Given the description of an element on the screen output the (x, y) to click on. 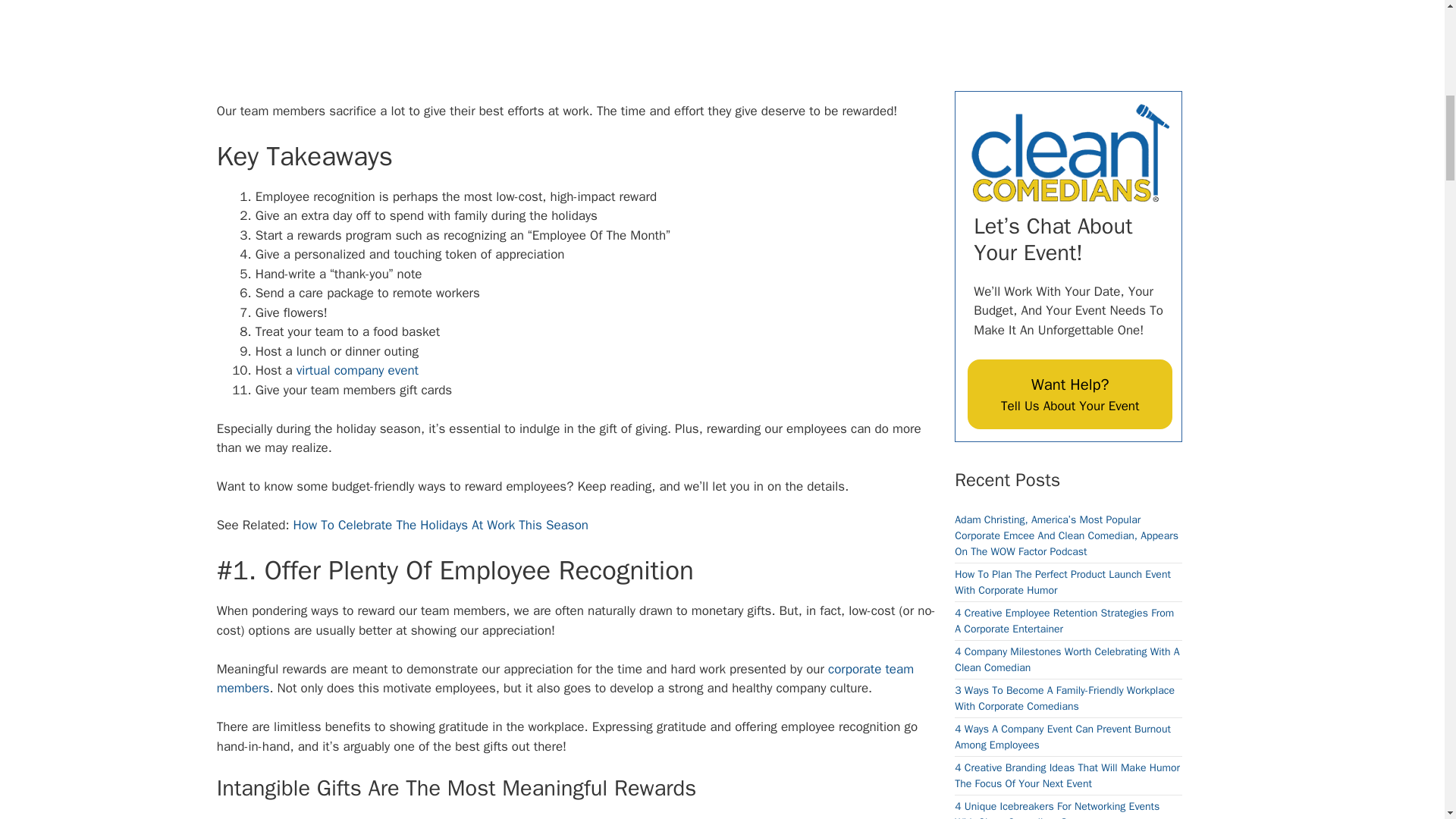
4 Company Milestones Worth Celebrating With A Clean Comedian (1067, 139)
How To Celebrate The Holidays At Work This Season (441, 524)
virtual company event (358, 370)
4 Ways A Company Event Can Prevent Burnout Among Employees (1062, 216)
75 Clean Humor Jokes To Share With Your Coworkers (1054, 371)
